Given the description of an element on the screen output the (x, y) to click on. 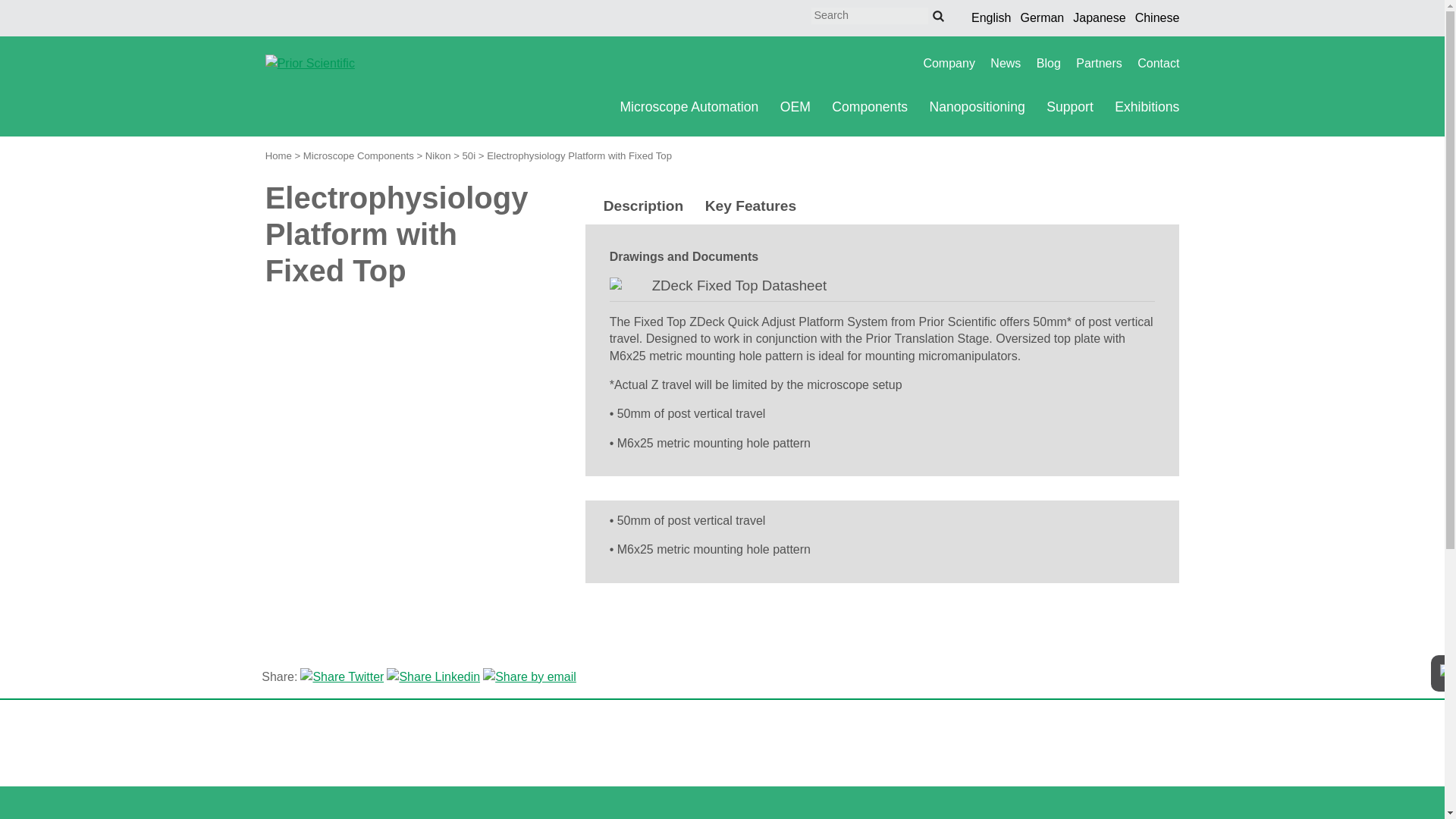
English (990, 17)
Japanese (1099, 17)
German (1042, 17)
Chinese (1157, 17)
